Given the description of an element on the screen output the (x, y) to click on. 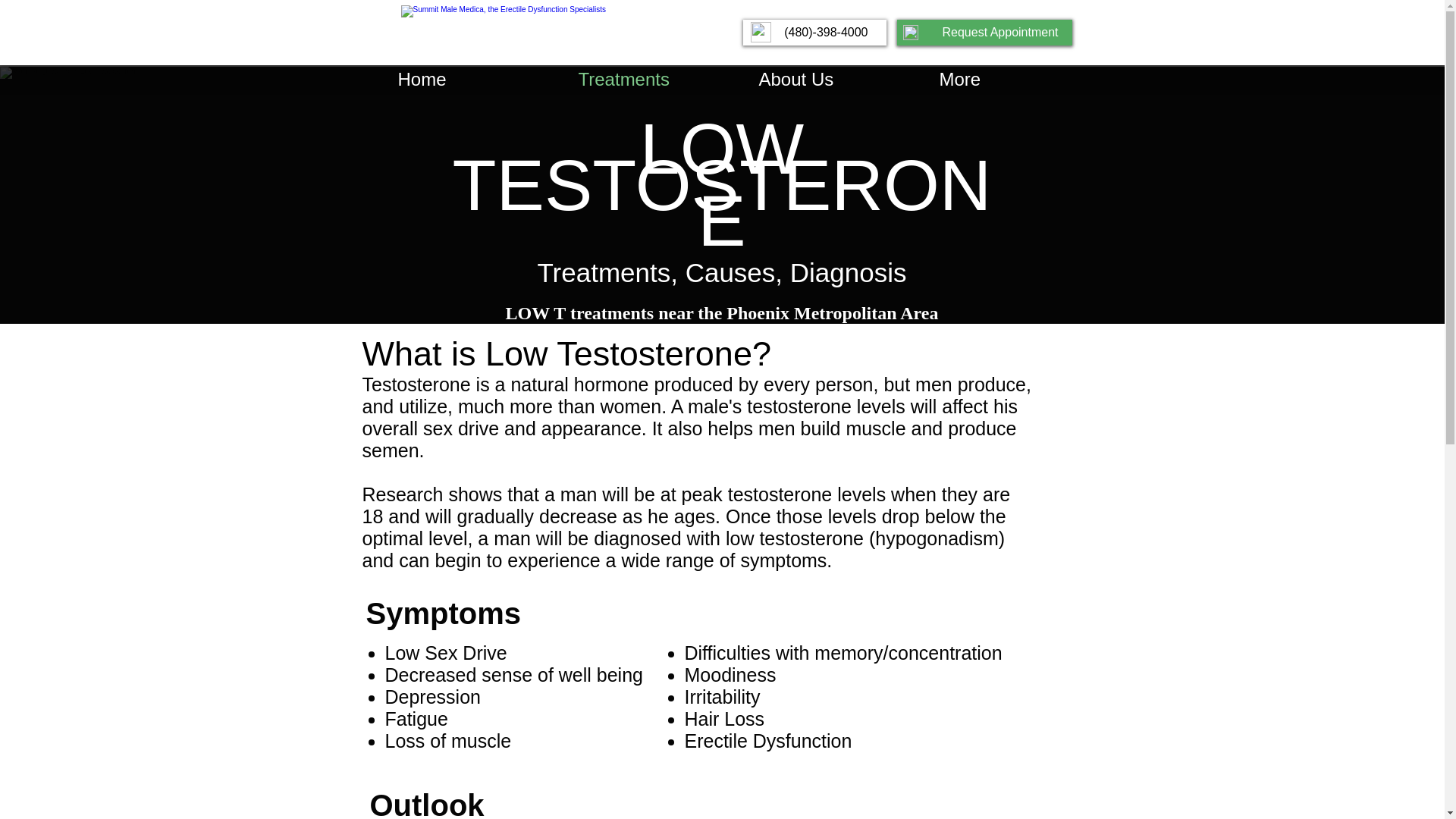
About Us (835, 79)
Treatments (655, 79)
Home (475, 79)
Request Appointment (983, 32)
